Given the description of an element on the screen output the (x, y) to click on. 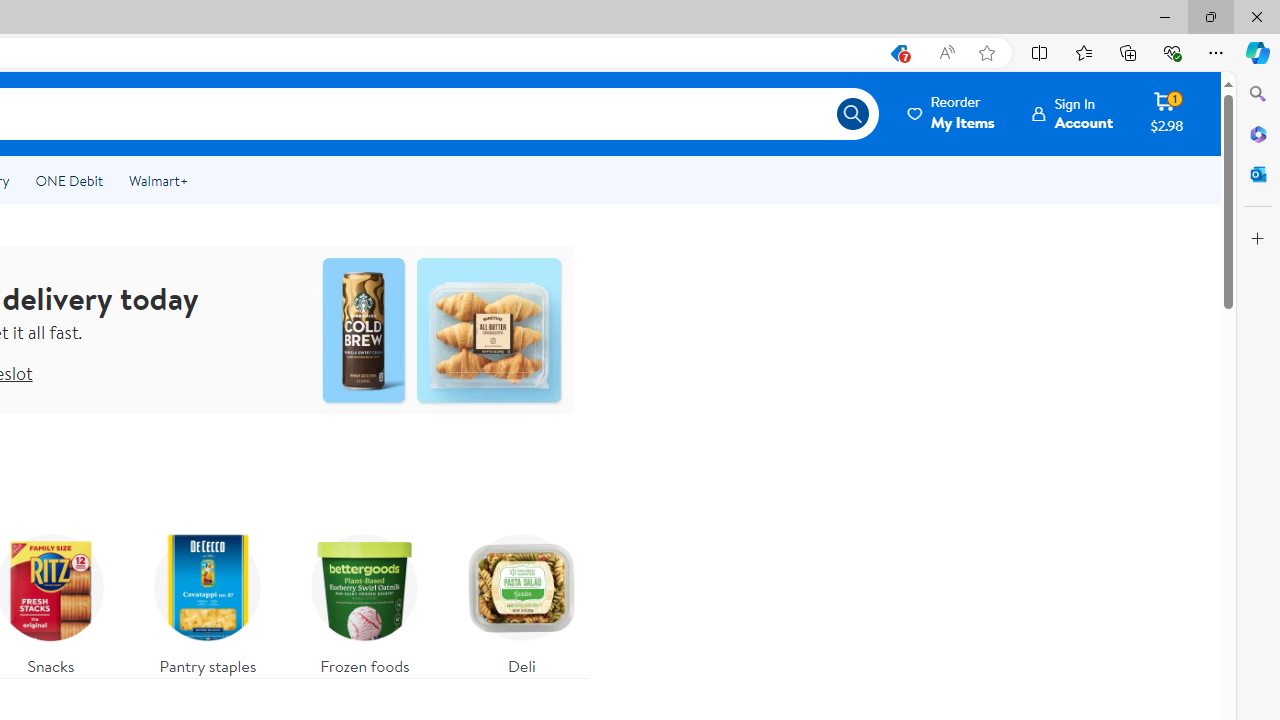
Read aloud this page (Ctrl+Shift+U) (946, 53)
Outlook (1258, 174)
Customize (1258, 239)
